Given the description of an element on the screen output the (x, y) to click on. 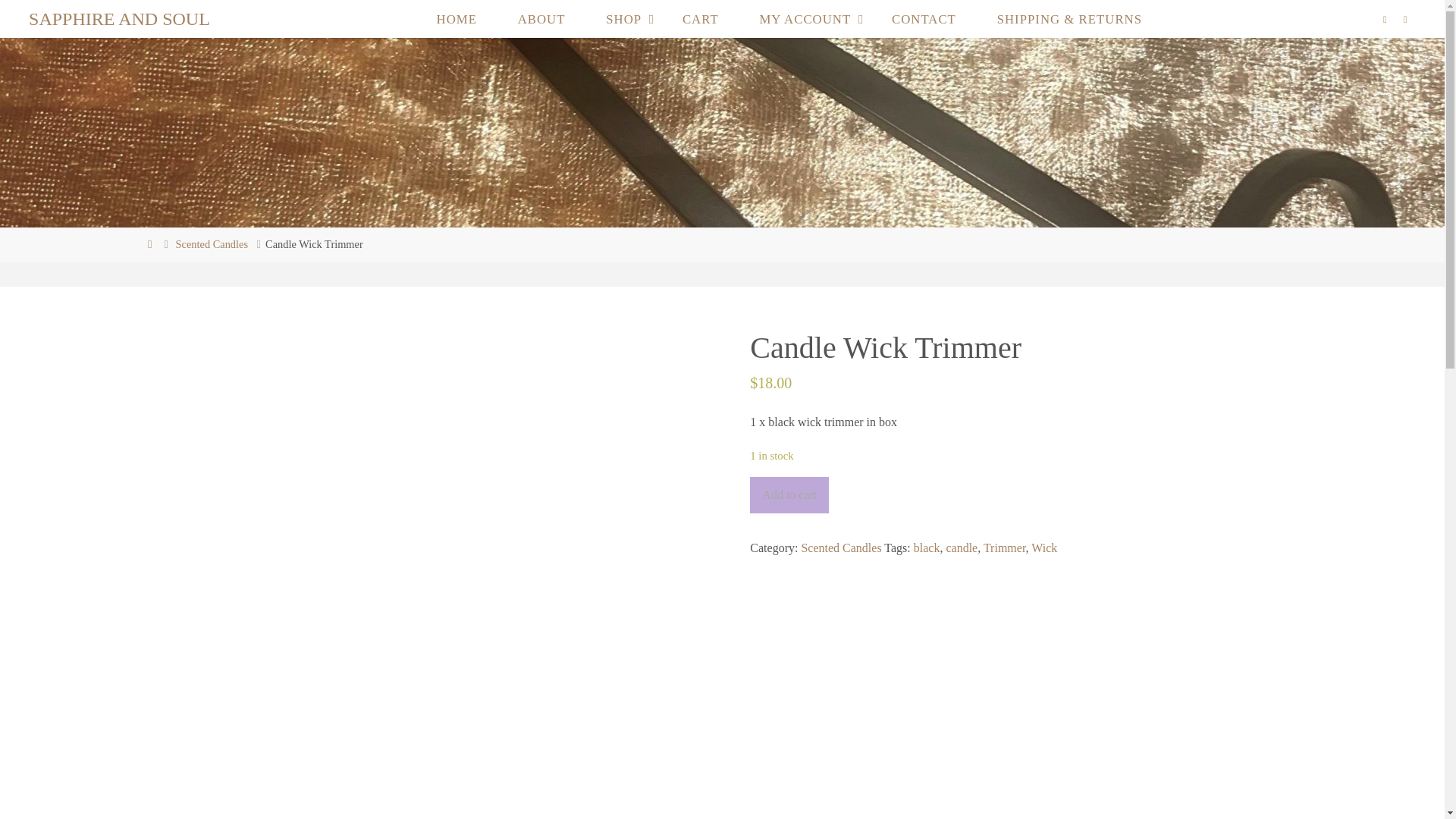
Affordable Candles, Crystals and Bath Soaks (119, 18)
CART (700, 18)
ABOUT (541, 18)
MY ACCOUNT (805, 18)
HOME (456, 18)
Scented Candles (840, 547)
black (927, 547)
Scented Candles (212, 244)
candle (960, 547)
SHOP (623, 18)
